Given the description of an element on the screen output the (x, y) to click on. 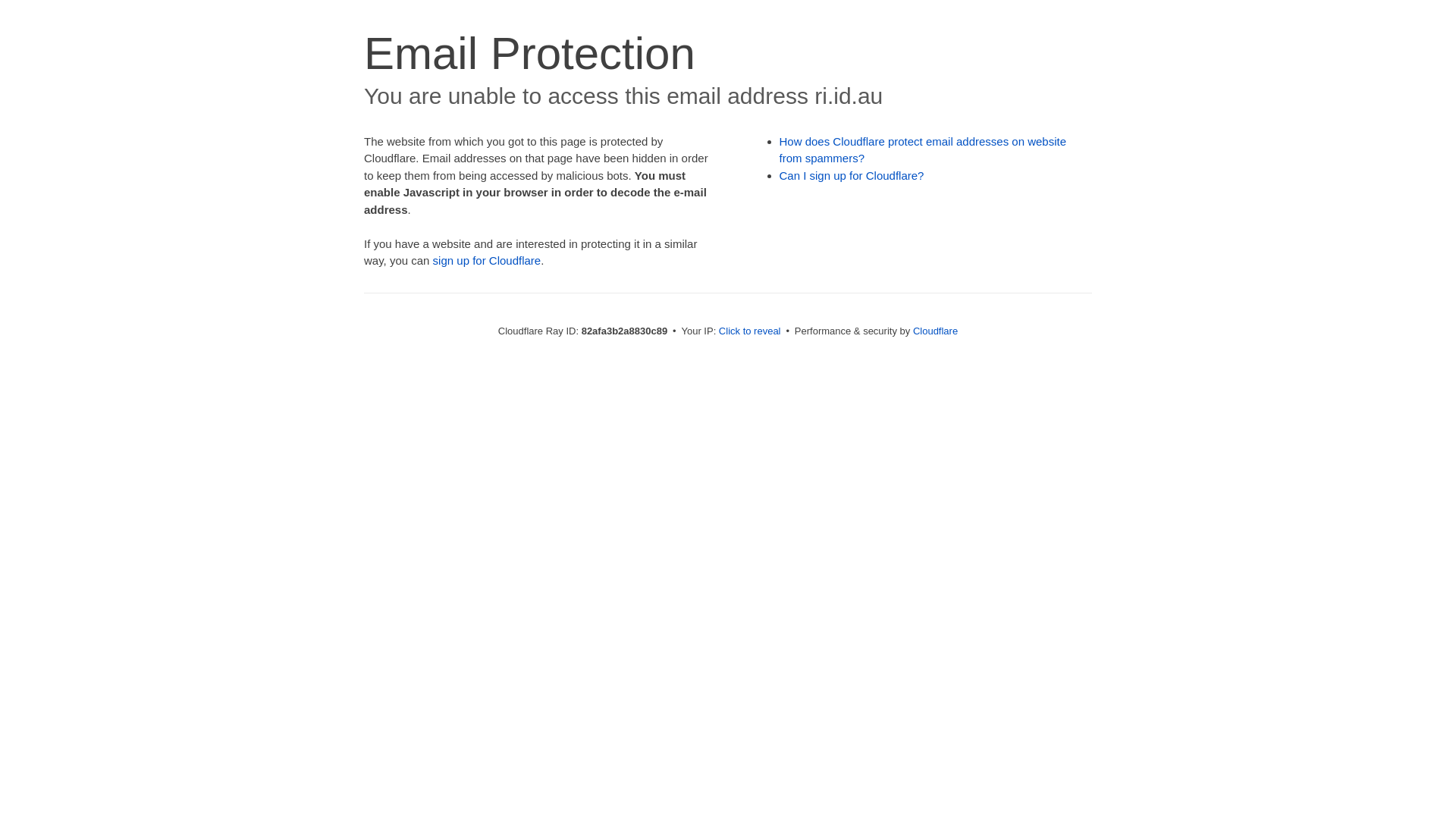
sign up for Cloudflare Element type: text (487, 260)
Cloudflare Element type: text (935, 330)
Click to reveal Element type: text (749, 330)
Can I sign up for Cloudflare? Element type: text (851, 175)
